Given the description of an element on the screen output the (x, y) to click on. 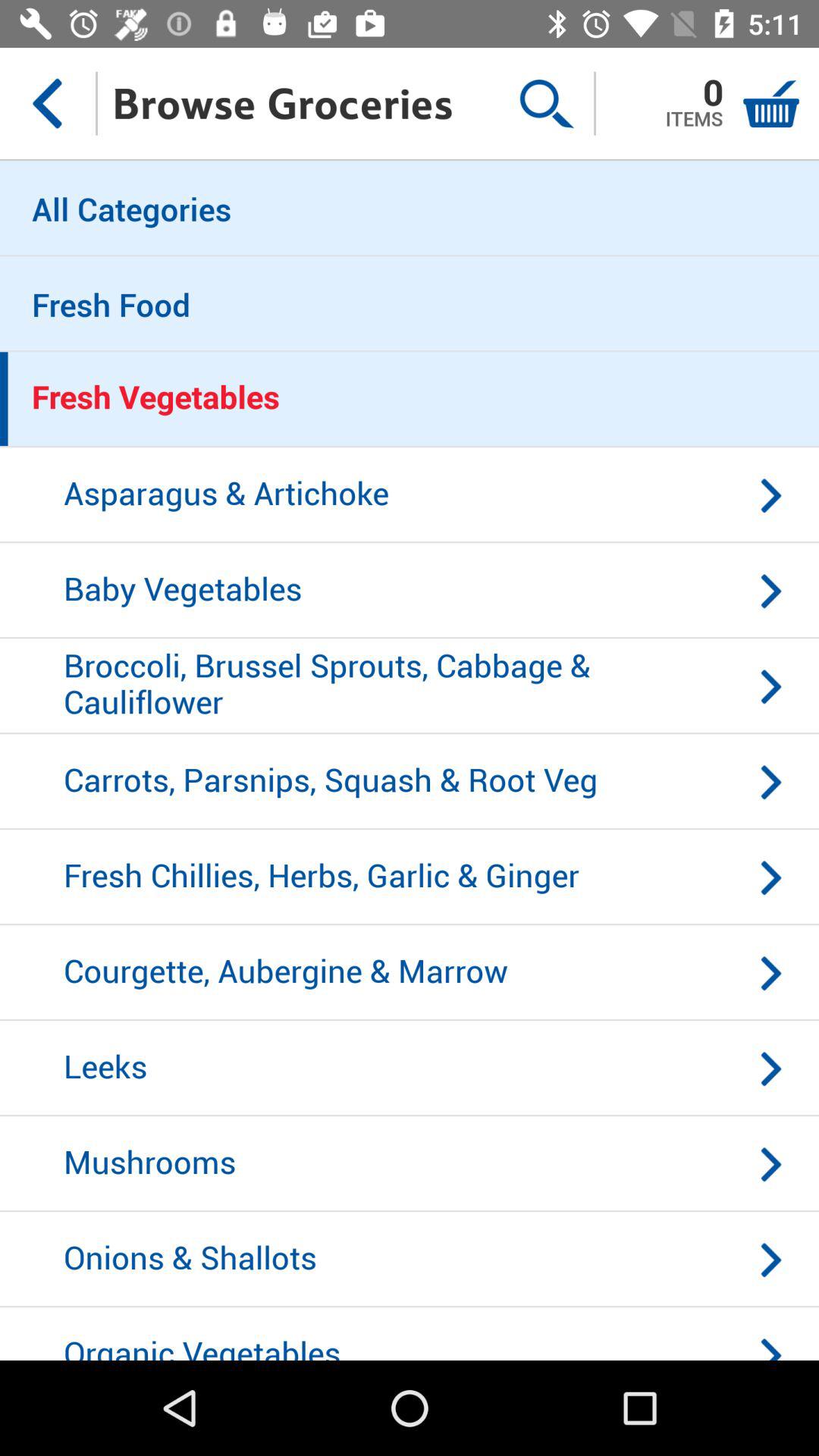
press fresh chillies herbs item (409, 877)
